Given the description of an element on the screen output the (x, y) to click on. 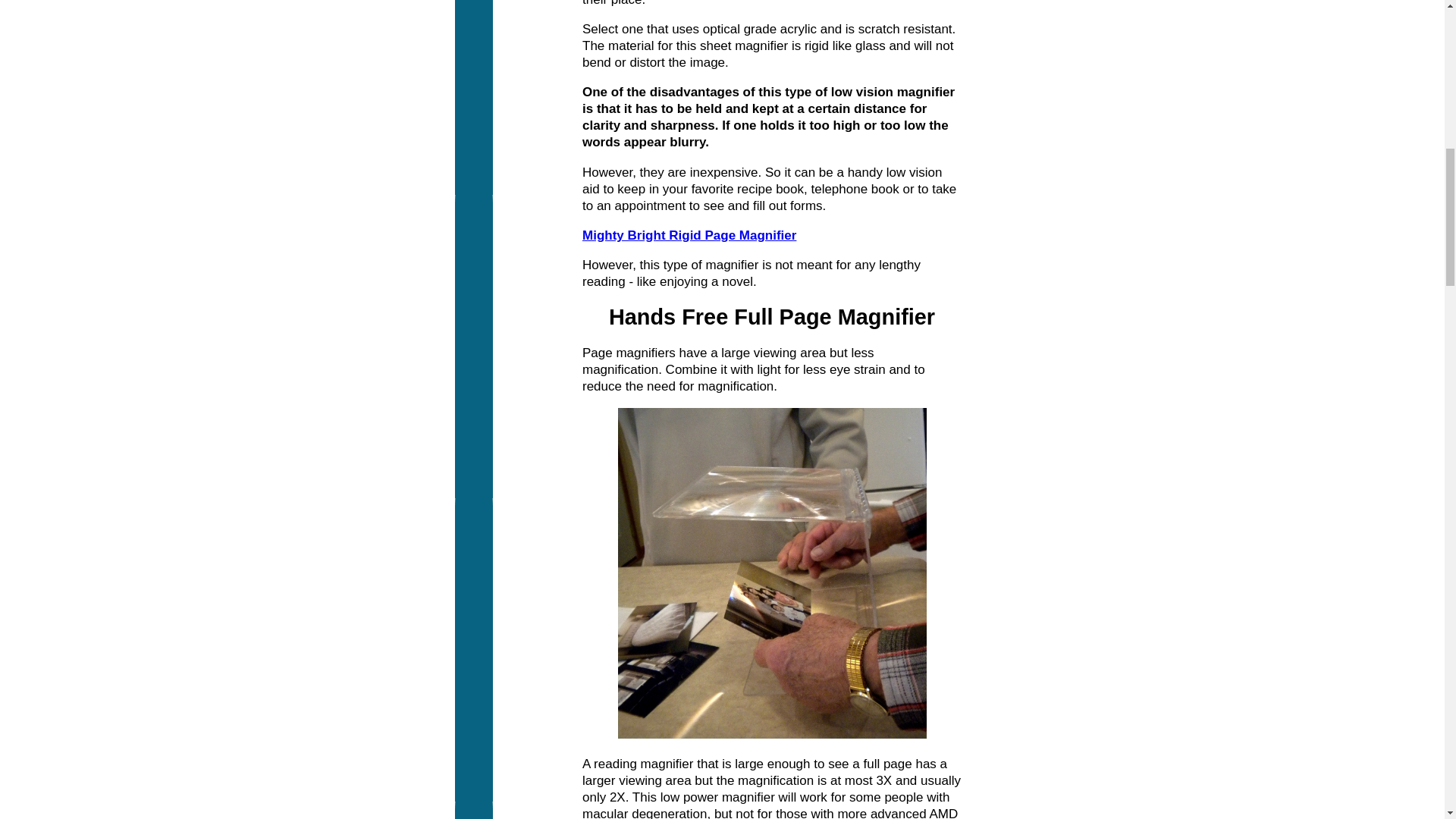
Mighty Bright Rigid Page Magnifier (689, 235)
full page magnifier (771, 572)
